Given the description of an element on the screen output the (x, y) to click on. 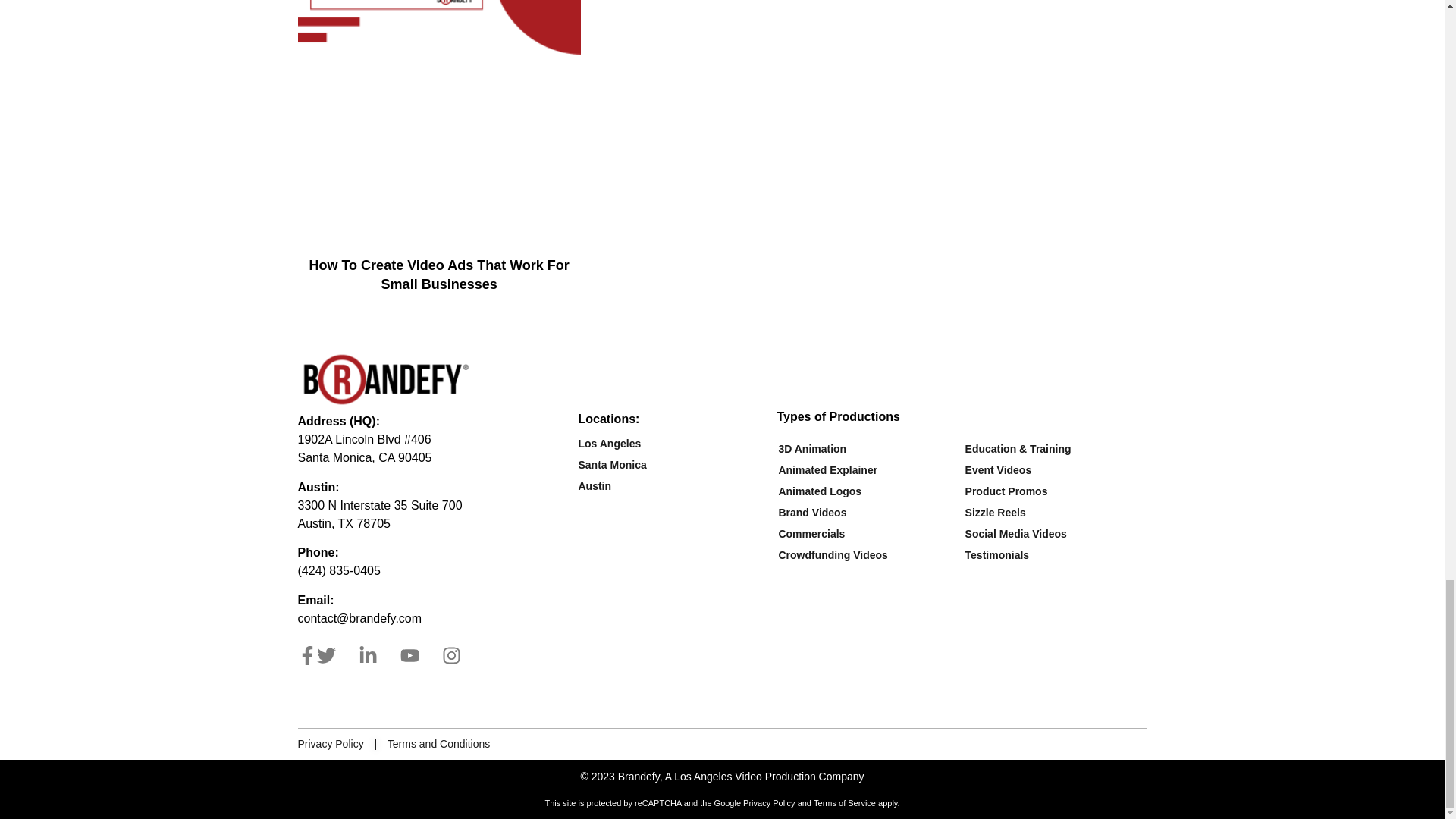
How To Create Video Ads That Work For Small Businesses (438, 274)
